Given the description of an element on the screen output the (x, y) to click on. 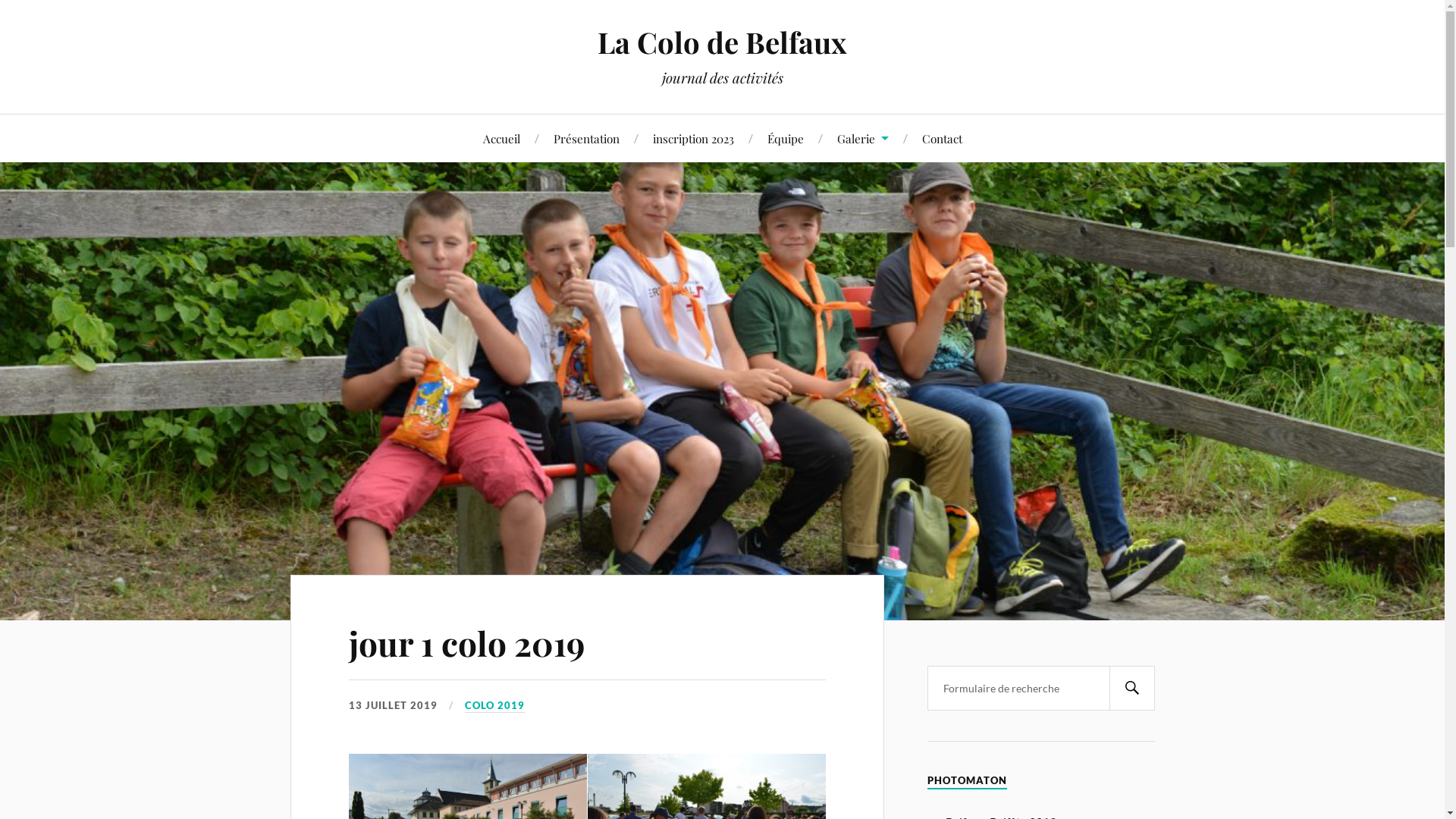
inscription 2023 Element type: text (692, 137)
Search Element type: text (1131, 687)
La Colo de Belfaux Element type: text (722, 41)
jour 1 colo 2019 Element type: text (466, 642)
Contact Element type: text (942, 137)
Accueil Element type: text (500, 137)
Galerie Element type: text (862, 137)
COLO 2019 Element type: text (494, 705)
